Given the description of an element on the screen output the (x, y) to click on. 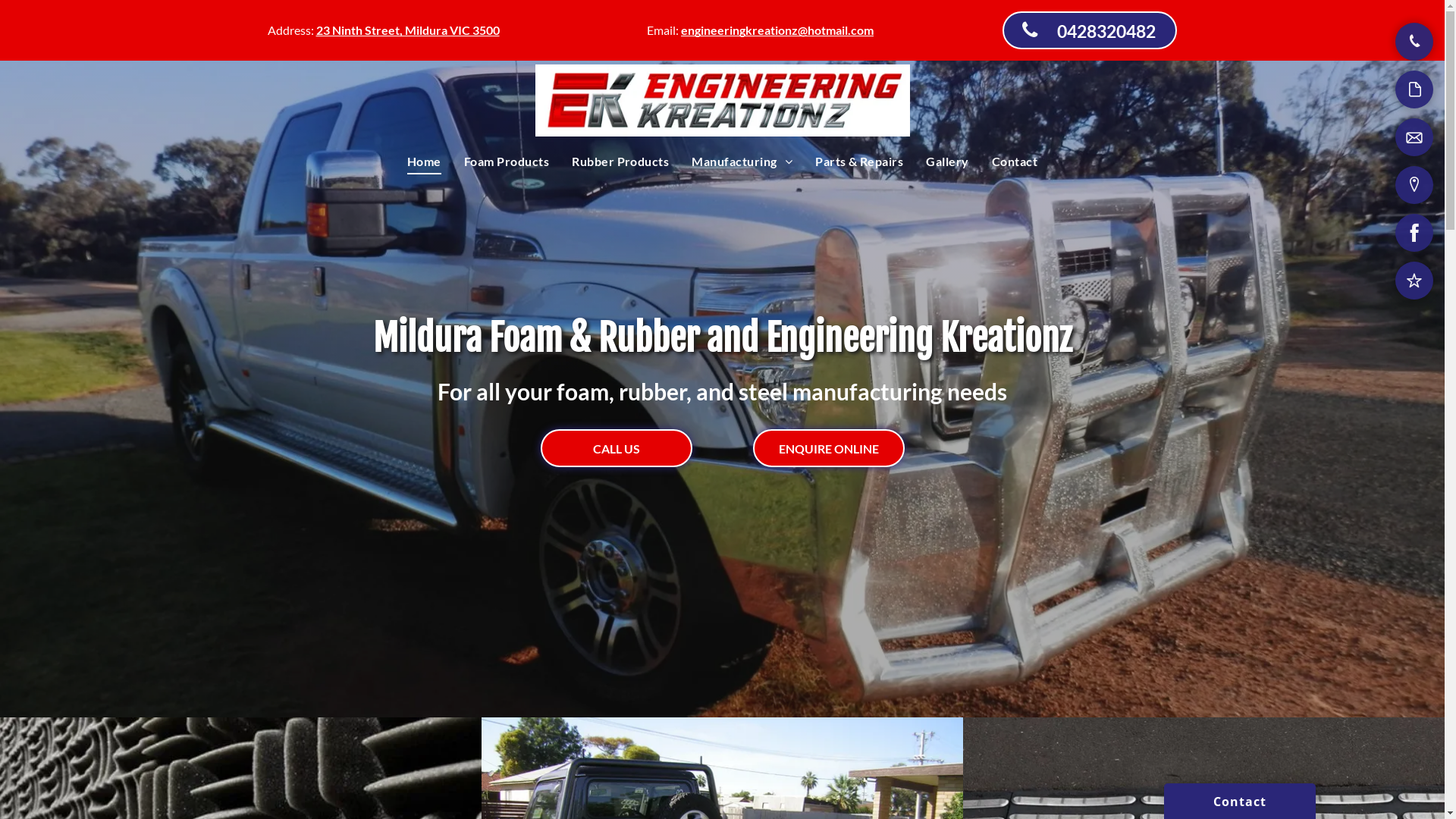
Home Element type: text (423, 161)
Rubber Products Element type: text (620, 161)
engineeringkreationz@hotmail.com Element type: text (776, 29)
Foam Products Element type: text (506, 161)
Gallery Element type: text (946, 161)
23 Ninth Street, Mildura VIC 3500 Element type: text (406, 29)
ENQUIRE ONLINE Element type: text (827, 448)
Parts & Repairs Element type: text (858, 161)
0428320482 Element type: text (1089, 30)
Manufacturing Element type: text (741, 161)
Contact Element type: text (1014, 161)
CALL US Element type: text (615, 448)
